Given the description of an element on the screen output the (x, y) to click on. 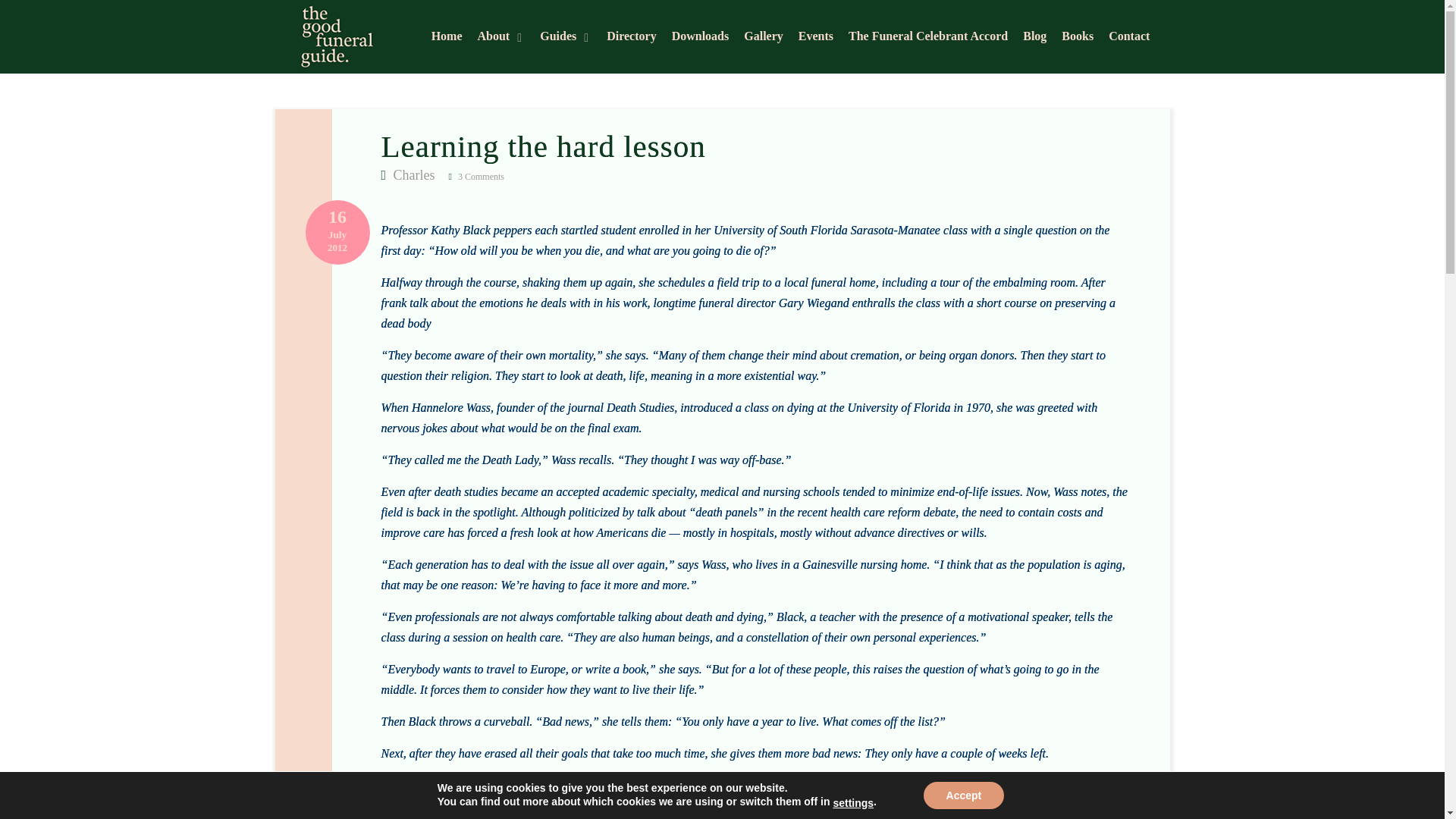
Contact (1129, 38)
Home (446, 38)
Events (814, 38)
here (461, 814)
Gallery (763, 38)
Blog (1034, 38)
Downloads (700, 38)
Books (1077, 38)
The Funeral Celebrant Accord (927, 38)
Directory (631, 38)
